Given the description of an element on the screen output the (x, y) to click on. 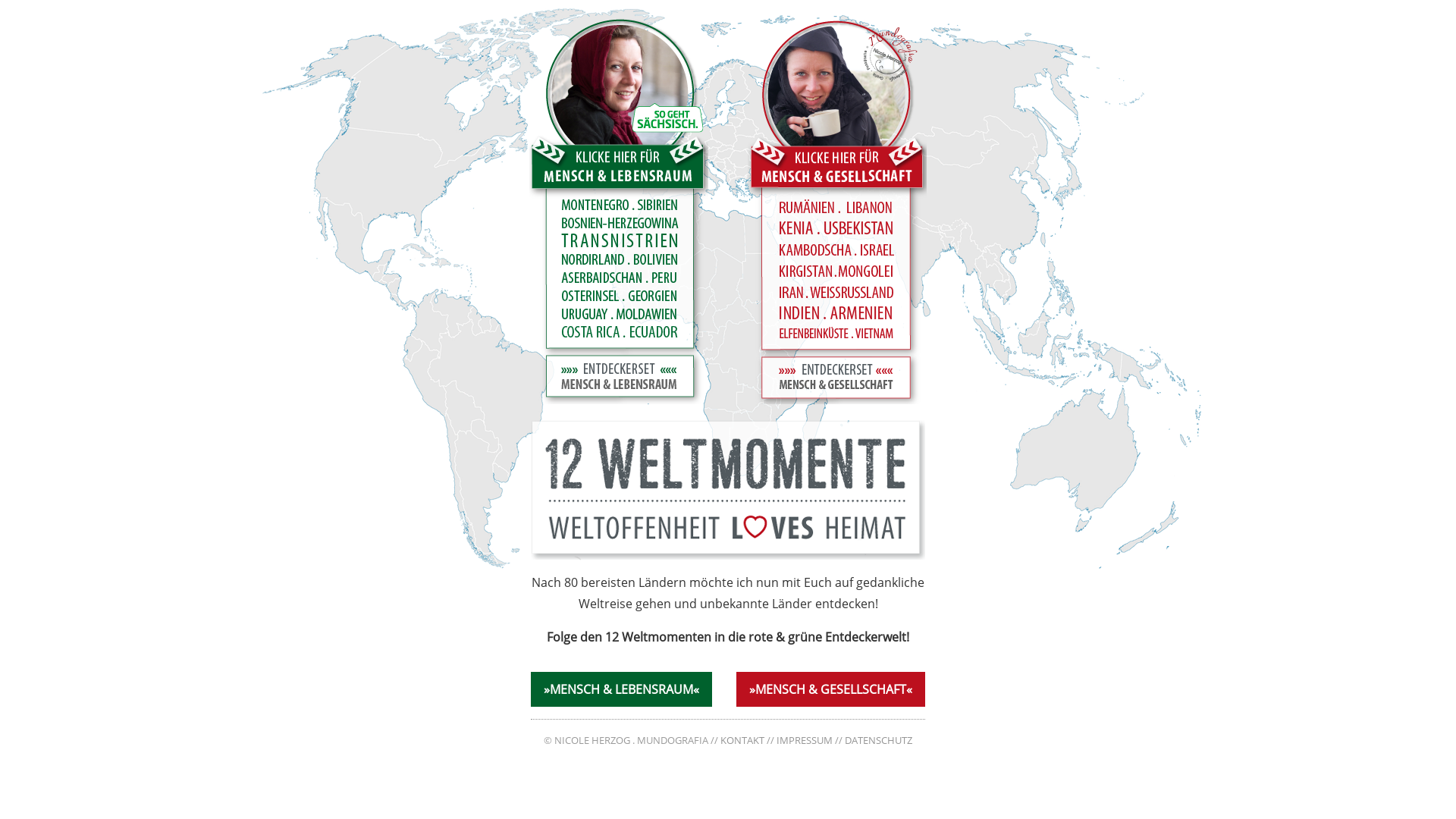
DATENSCHUTZ Element type: text (878, 740)
KONTAKT Element type: text (742, 740)
IMPRESSUM Element type: text (804, 740)
